Given the description of an element on the screen output the (x, y) to click on. 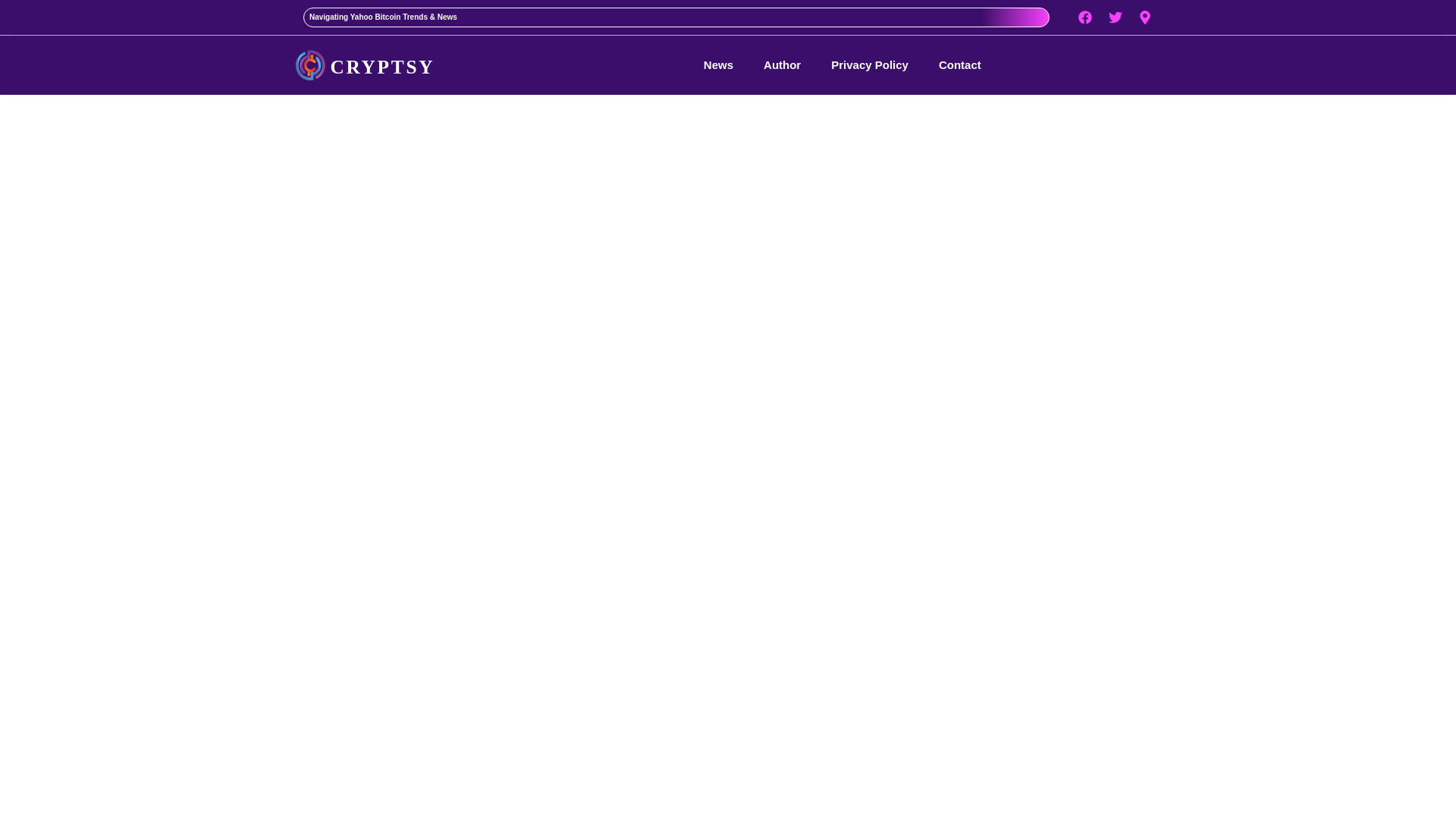
Contact (960, 64)
Privacy Policy (869, 64)
Author (781, 64)
